Given the description of an element on the screen output the (x, y) to click on. 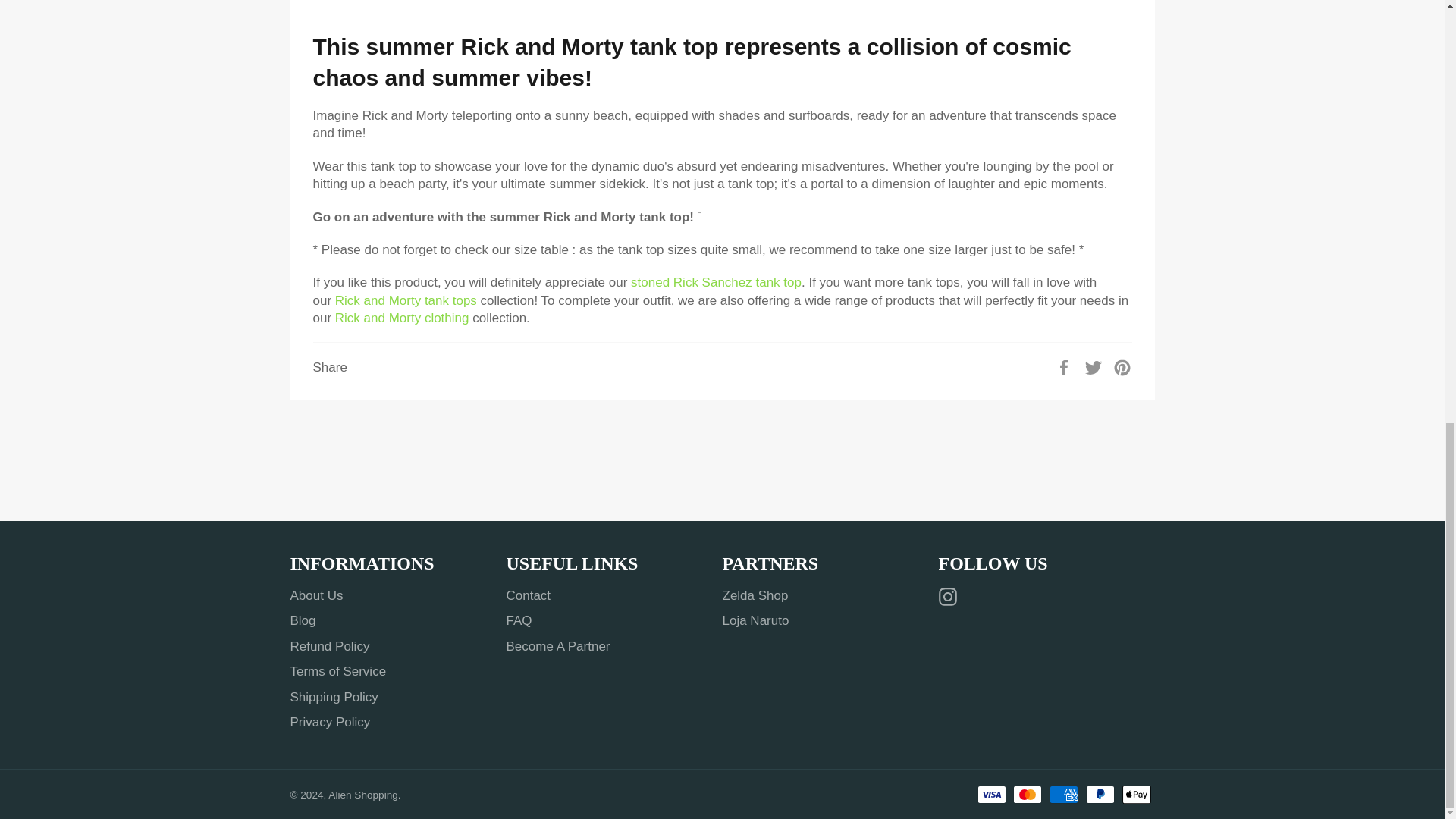
stoned Rick Sanchez tank top (716, 282)
Shipping Policy (333, 697)
rick and morty tank tops (405, 300)
Rick and Morty tank tops (405, 300)
rick and morty clothing (401, 318)
Share on Facebook (1065, 366)
Alien Shopping on Instagram (951, 596)
Become A Partner (558, 646)
Blog (302, 620)
Tweet on Twitter (1095, 366)
Pin on Pinterest (1122, 366)
Instagram (951, 596)
Privacy Policy (329, 721)
About Us (315, 595)
FAQ (519, 620)
